Given the description of an element on the screen output the (x, y) to click on. 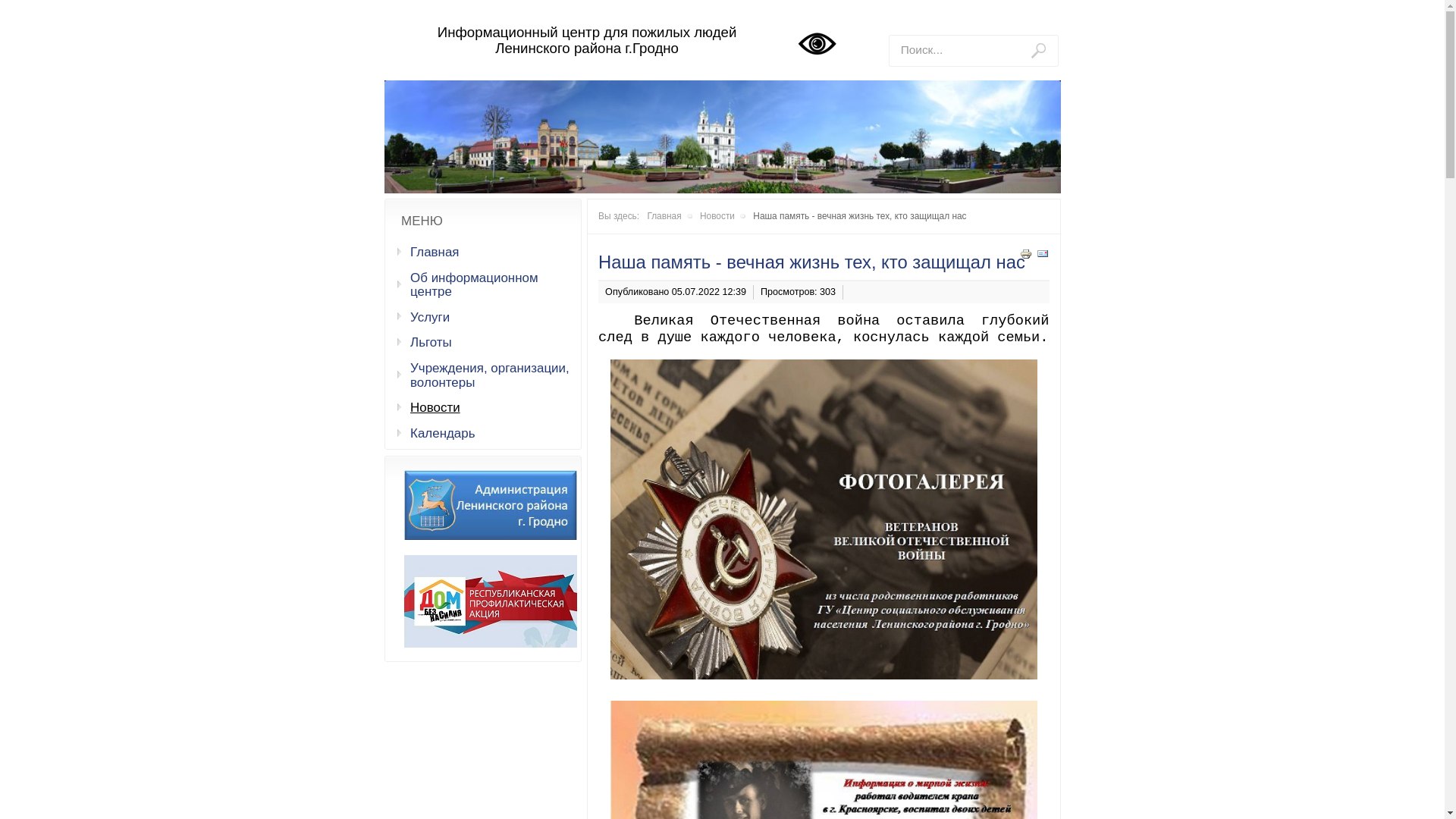
E-mail Element type: hover (1041, 256)
